Given the description of an element on the screen output the (x, y) to click on. 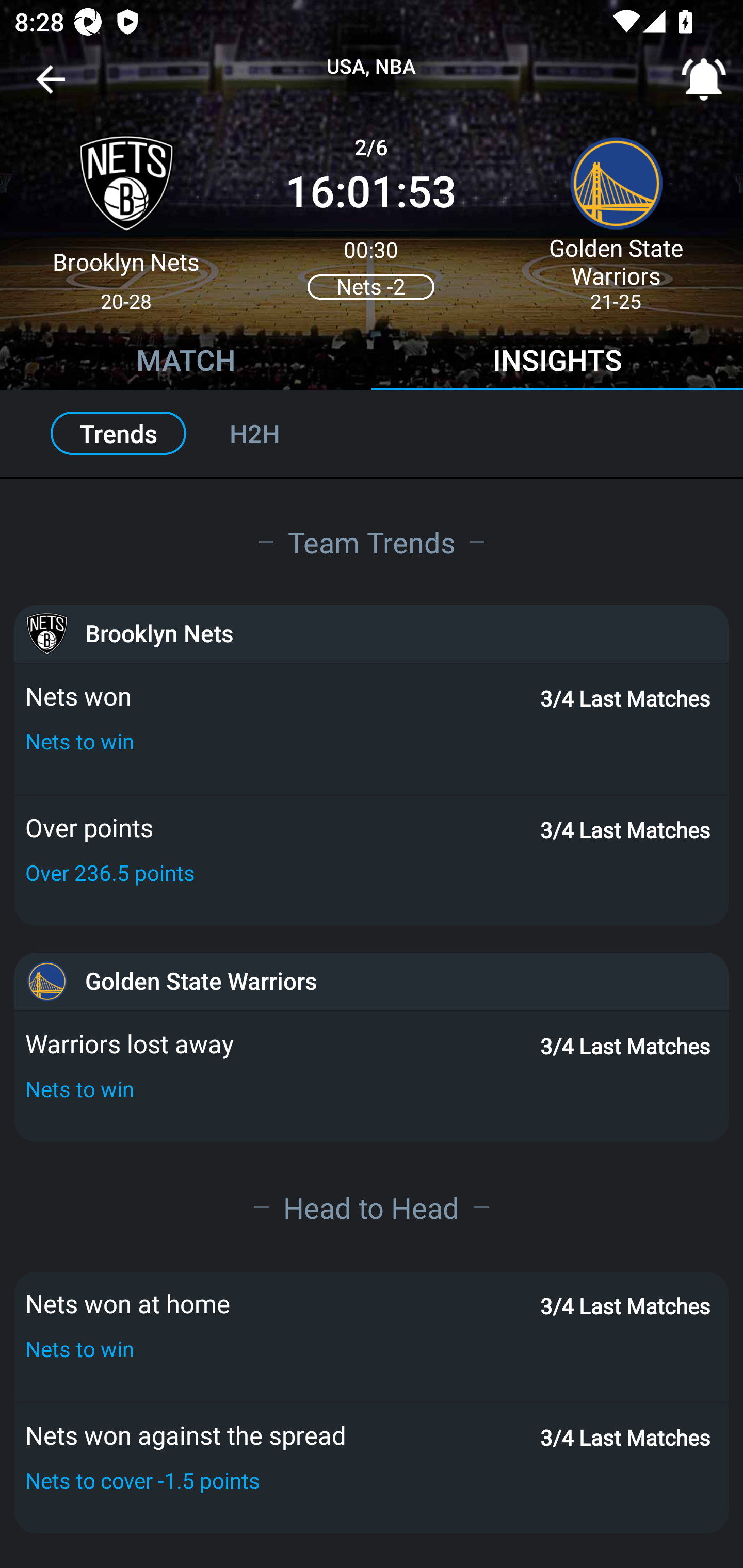
Navigate up (50, 86)
USA, NBA (371, 66)
Brooklyn Nets 20-28 (126, 214)
Golden State Warriors 21-25 (616, 214)
MATCH (185, 362)
INSIGHTS (557, 362)
H2H (276, 433)
Team Trends (371, 541)
Brooklyn Nets (371, 634)
Nets won 3/4 Last Matches Nets to win (371, 729)
Over points 3/4 Last Matches Over 236.5 points (371, 860)
Golden State Warriors (371, 981)
Warriors lost away 3/4 Last Matches Nets to win (371, 1076)
Head to Head (371, 1207)
Nets won at home 3/4 Last Matches Nets to win (371, 1336)
